Given the description of an element on the screen output the (x, y) to click on. 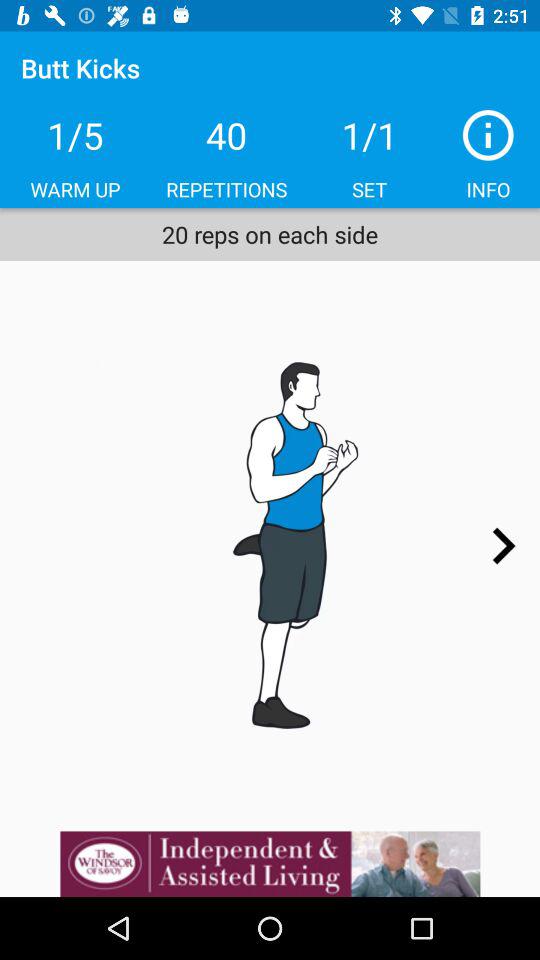
demonstration of exercise (269, 545)
